Given the description of an element on the screen output the (x, y) to click on. 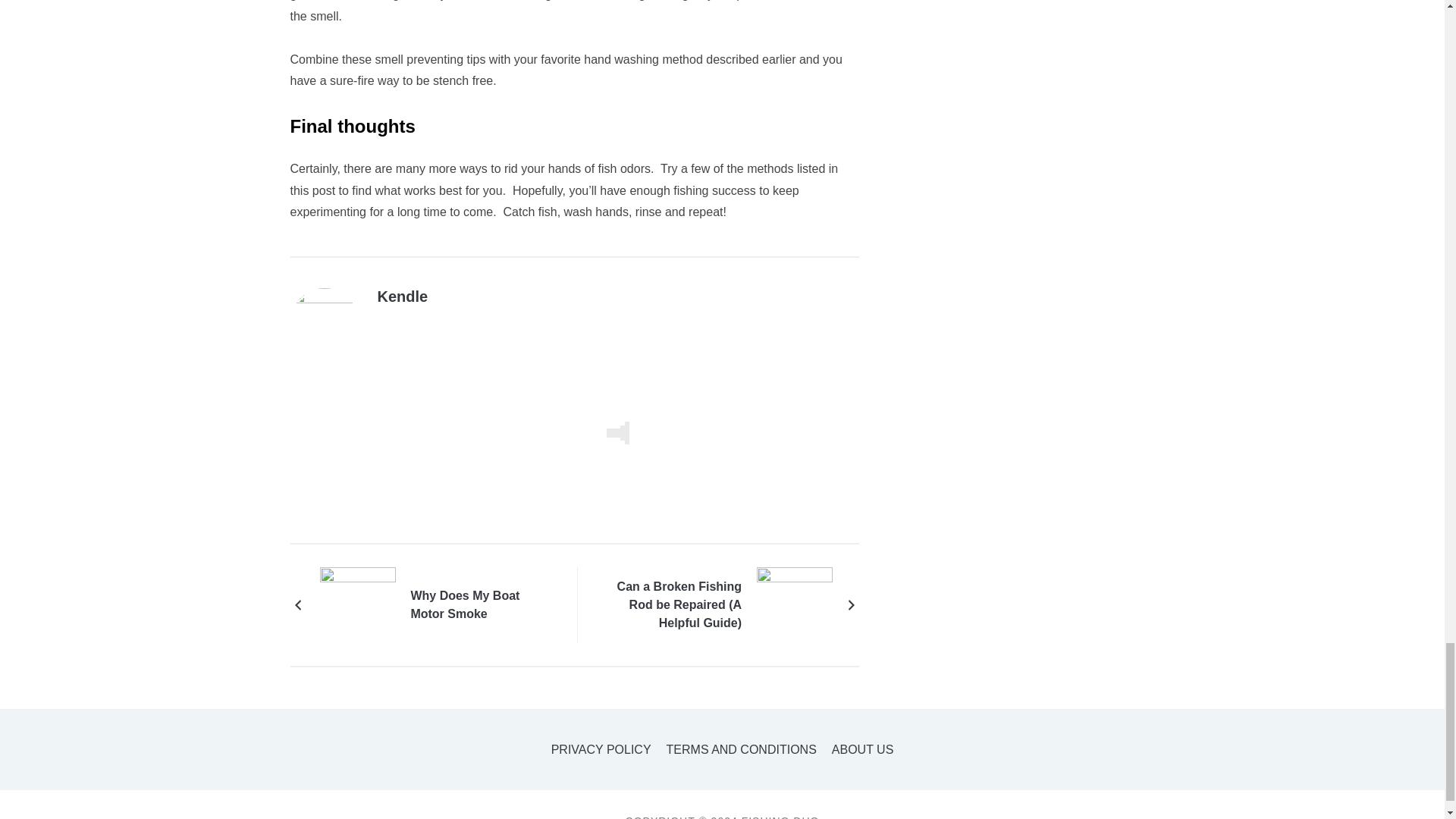
Kendle (402, 296)
Why Does My Boat Motor Smoke (357, 603)
Why Does My Boat Motor Smoke (480, 605)
Posts by Kendle (402, 296)
